Given the description of an element on the screen output the (x, y) to click on. 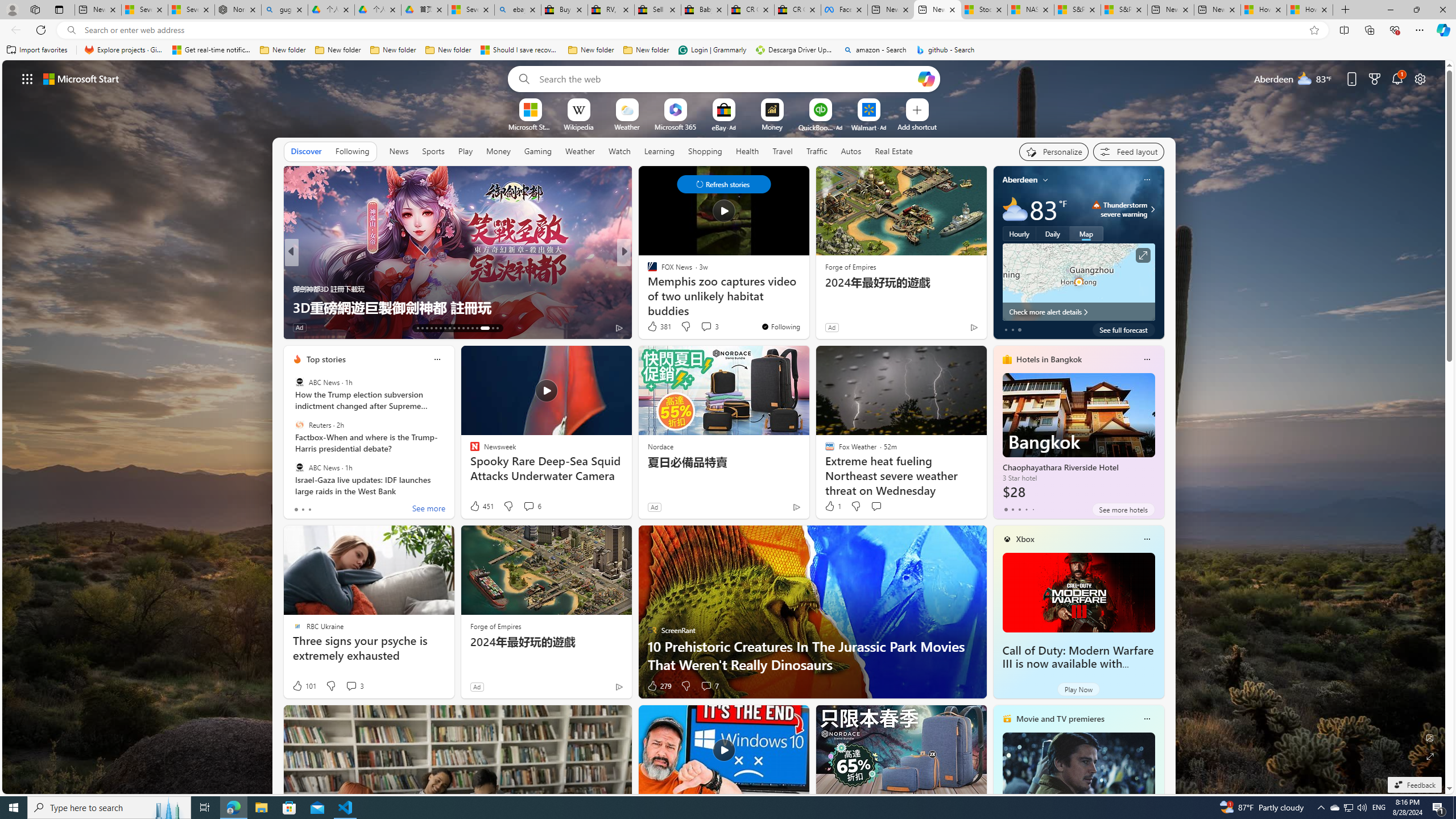
Edit Background (1430, 737)
View comments 6 Comment (532, 505)
Play (465, 151)
Descarga Driver Updater (794, 49)
AutomationID: tab-26 (476, 328)
Travel (782, 151)
AutomationID: tab-14 (422, 328)
Mostly cloudy (1014, 208)
Play (465, 151)
AutomationID: tab-17 (435, 328)
Thunderstorm - Severe (1097, 204)
